Given the description of an element on the screen output the (x, y) to click on. 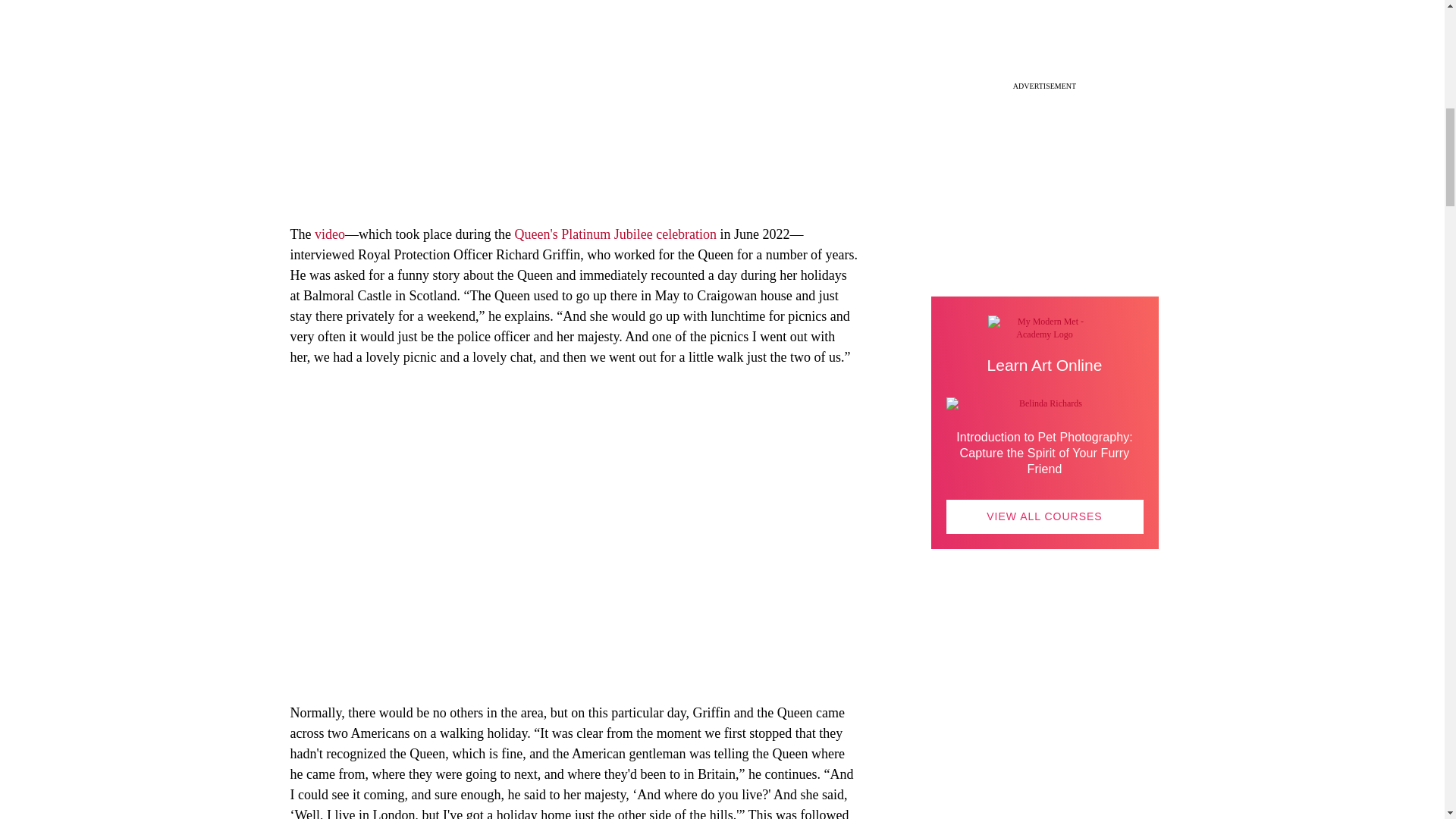
Visit Our Store (1044, 726)
